Given the description of an element on the screen output the (x, y) to click on. 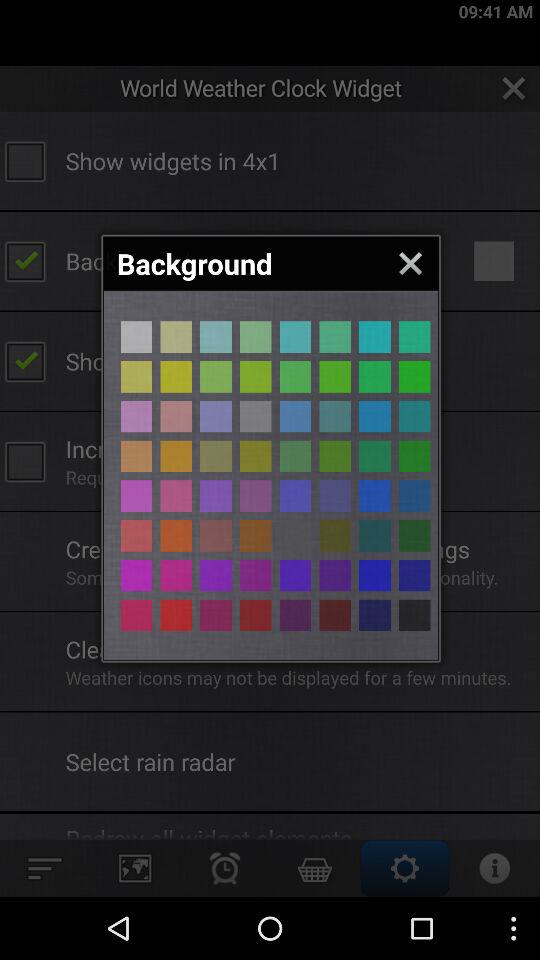
change background colour to yellow (255, 535)
